Given the description of an element on the screen output the (x, y) to click on. 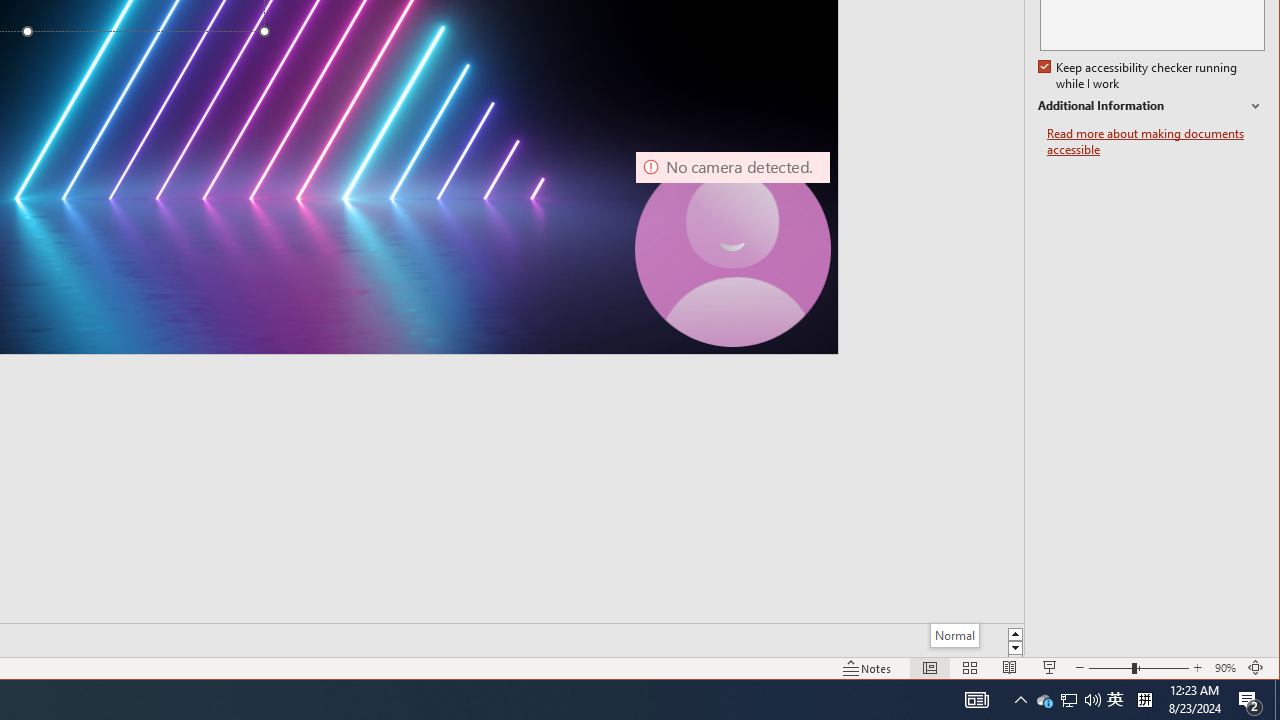
Keep accessibility checker running while I work (1139, 76)
Zoom 90% (1225, 668)
Action Center, 2 new notifications (1250, 699)
Tray Input Indicator - Chinese (Simplified, China) (1144, 699)
